Given the description of an element on the screen output the (x, y) to click on. 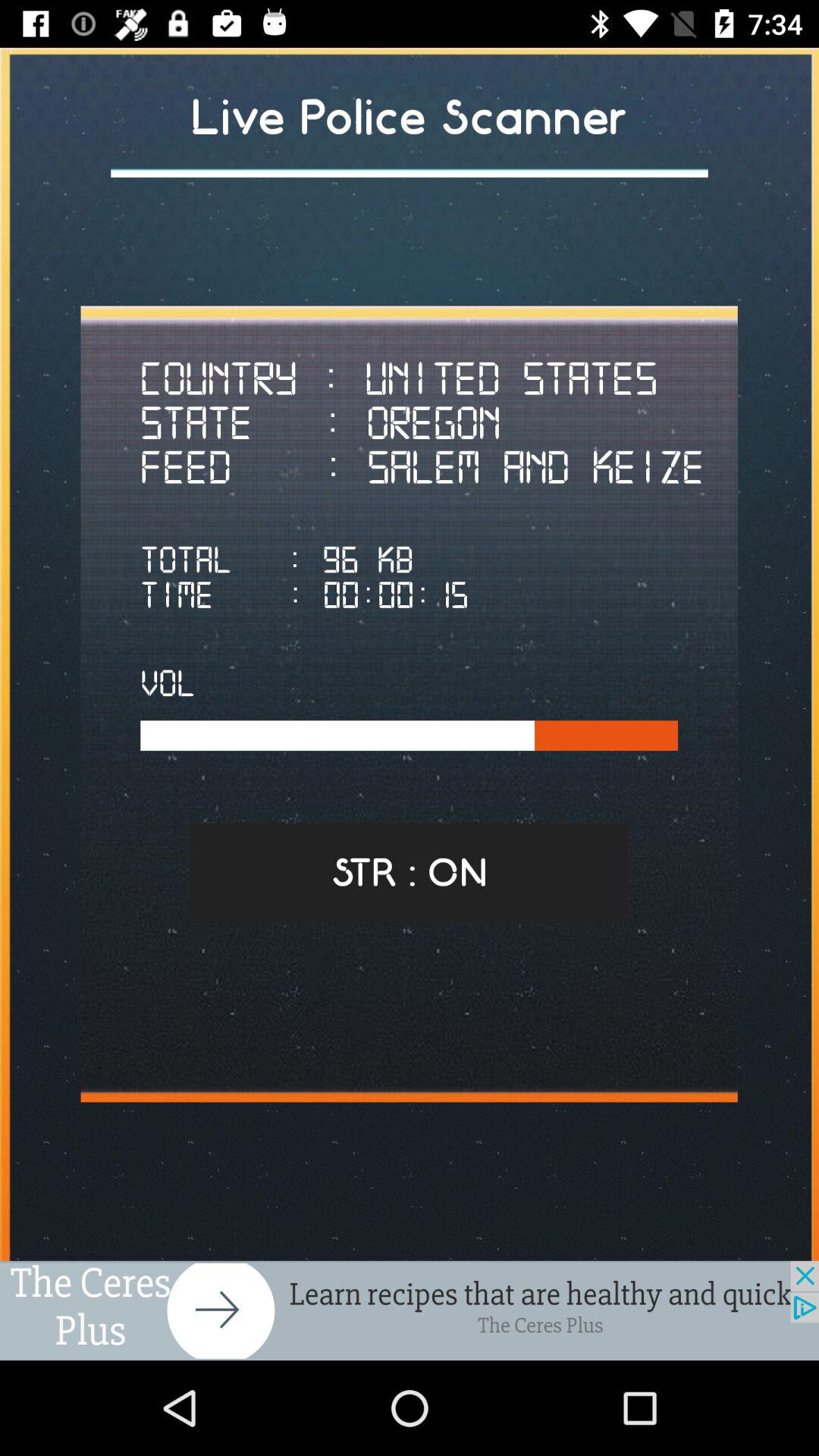
visit advertiser website (409, 1310)
